Given the description of an element on the screen output the (x, y) to click on. 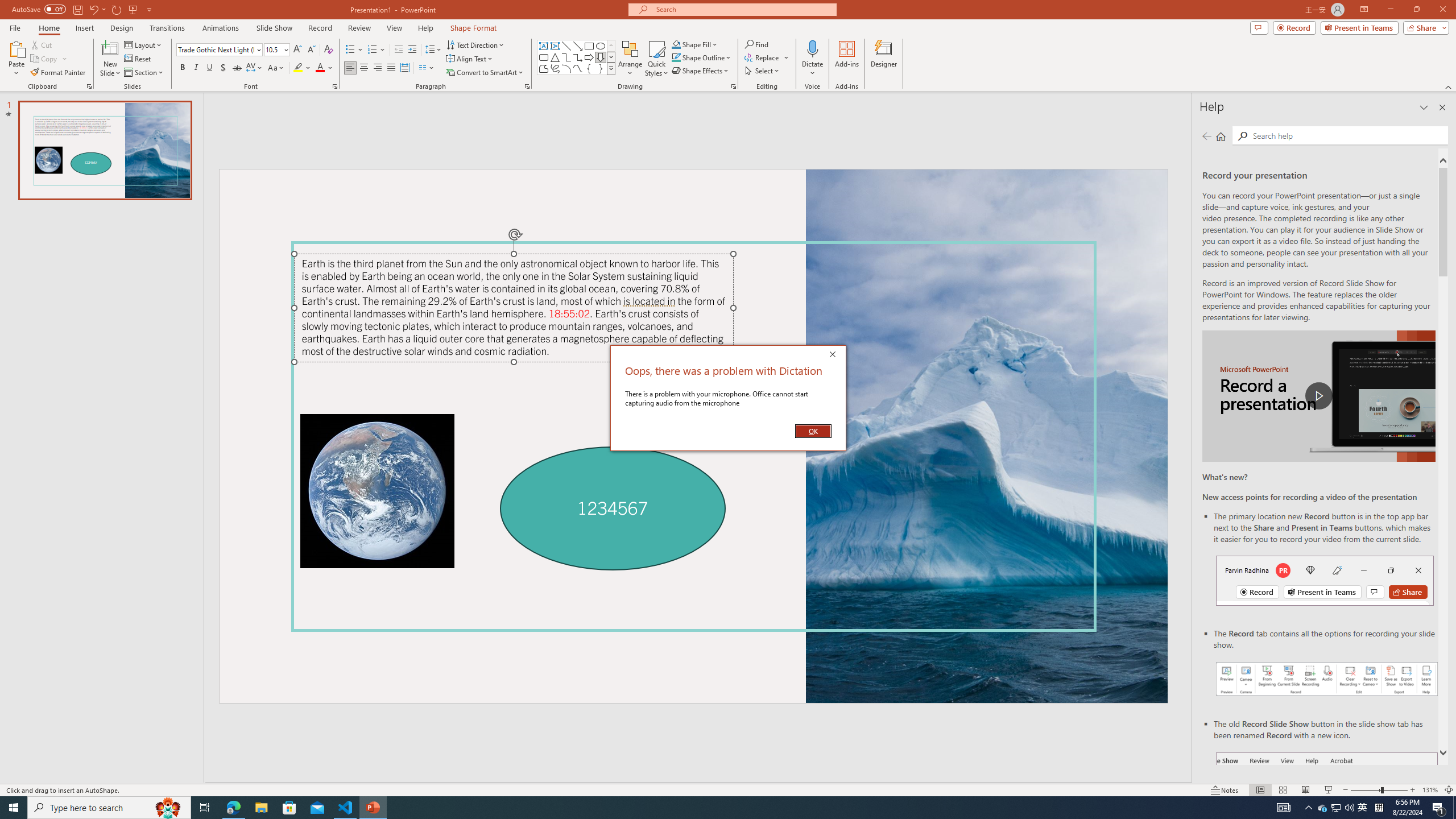
Increase Font Size (297, 49)
System (6, 6)
Text Highlight Color (302, 67)
Reading View (1305, 790)
Home (1220, 136)
Paragraph... (526, 85)
AutomationID: ShapesInsertGallery (576, 57)
Bullets (354, 49)
Shape Fill Aqua, Accent 2 (675, 44)
Reset (138, 58)
Font (219, 49)
Home (48, 28)
Shape Fill (694, 44)
Text Highlight Color Yellow (297, 67)
Zoom 131% (1430, 790)
